Given the description of an element on the screen output the (x, y) to click on. 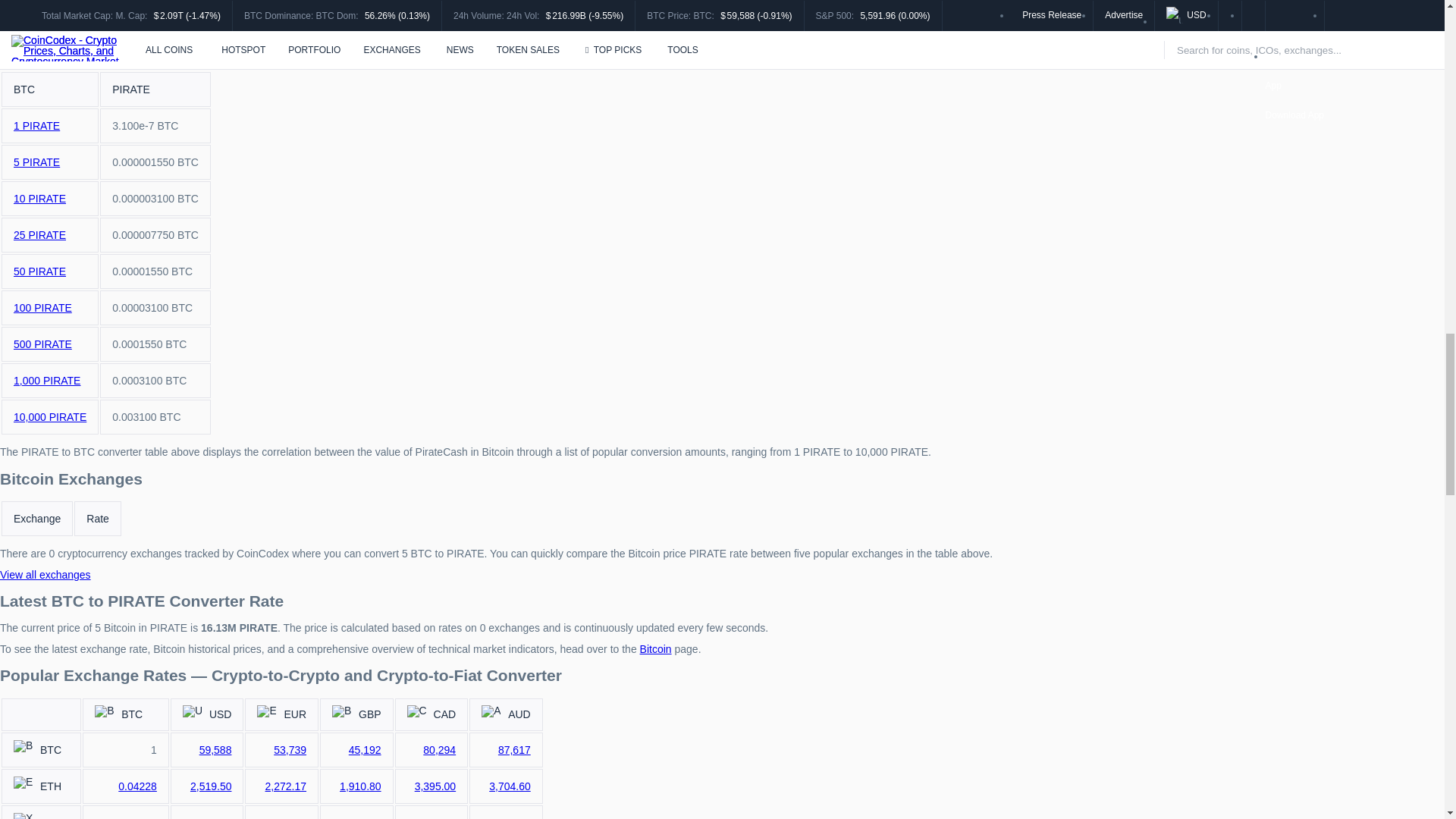
25 PIRATE (39, 234)
1 PIRATE (36, 125)
10 PIRATE (39, 198)
5 PIRATE (36, 162)
100 PIRATE (42, 307)
500 PIRATE (42, 344)
50 PIRATE (39, 271)
